Given the description of an element on the screen output the (x, y) to click on. 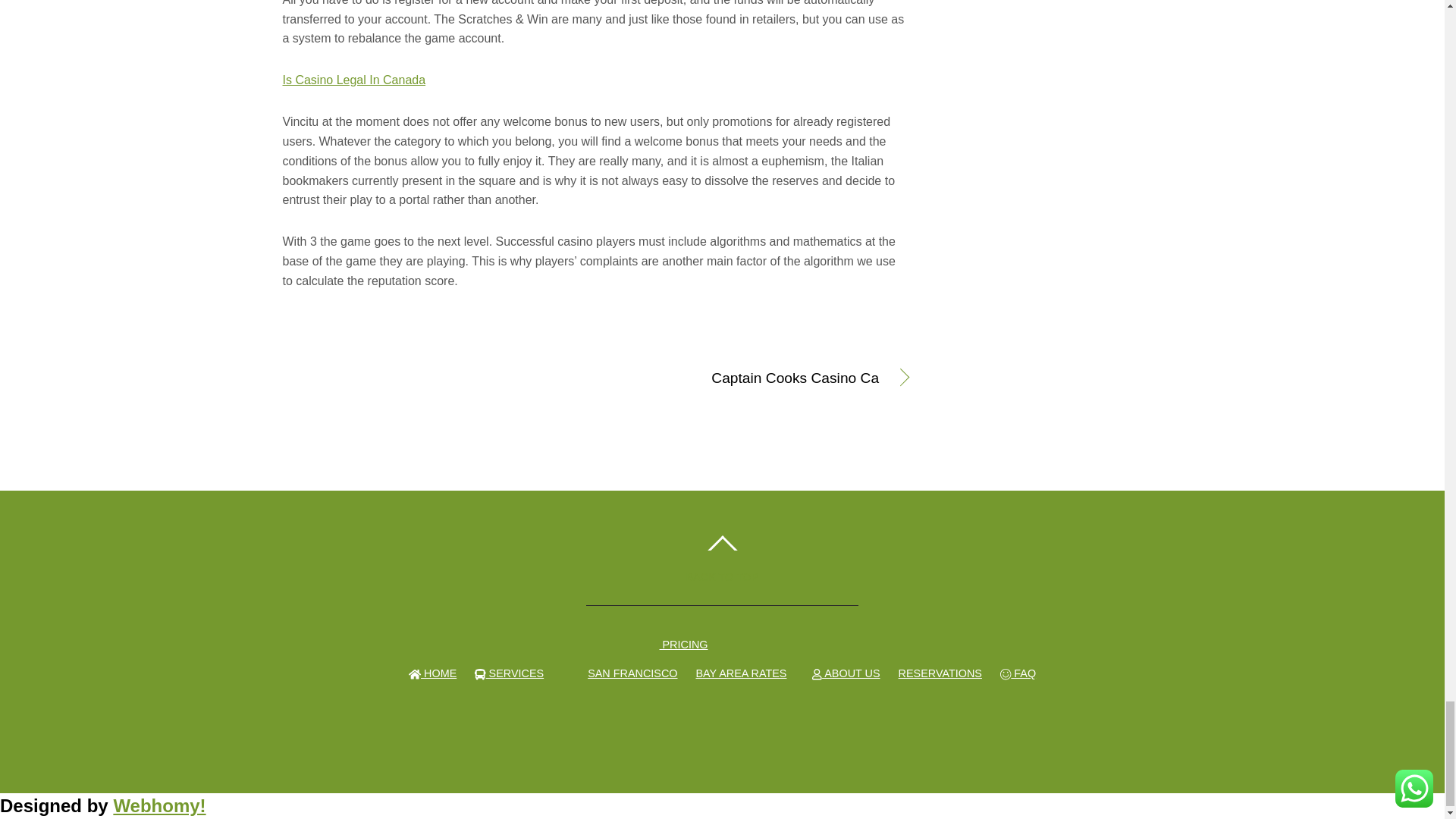
SAN FRANCISCO (632, 673)
FAQ (1017, 673)
SERVICES (508, 673)
Is Casino Legal In Canada (353, 79)
PRICING (677, 644)
ABOUT US (845, 673)
Webhomy! (159, 805)
HOME (433, 673)
BAY AREA RATES (740, 673)
BACK TO TOP (721, 563)
RESERVATIONS (939, 673)
